Given the description of an element on the screen output the (x, y) to click on. 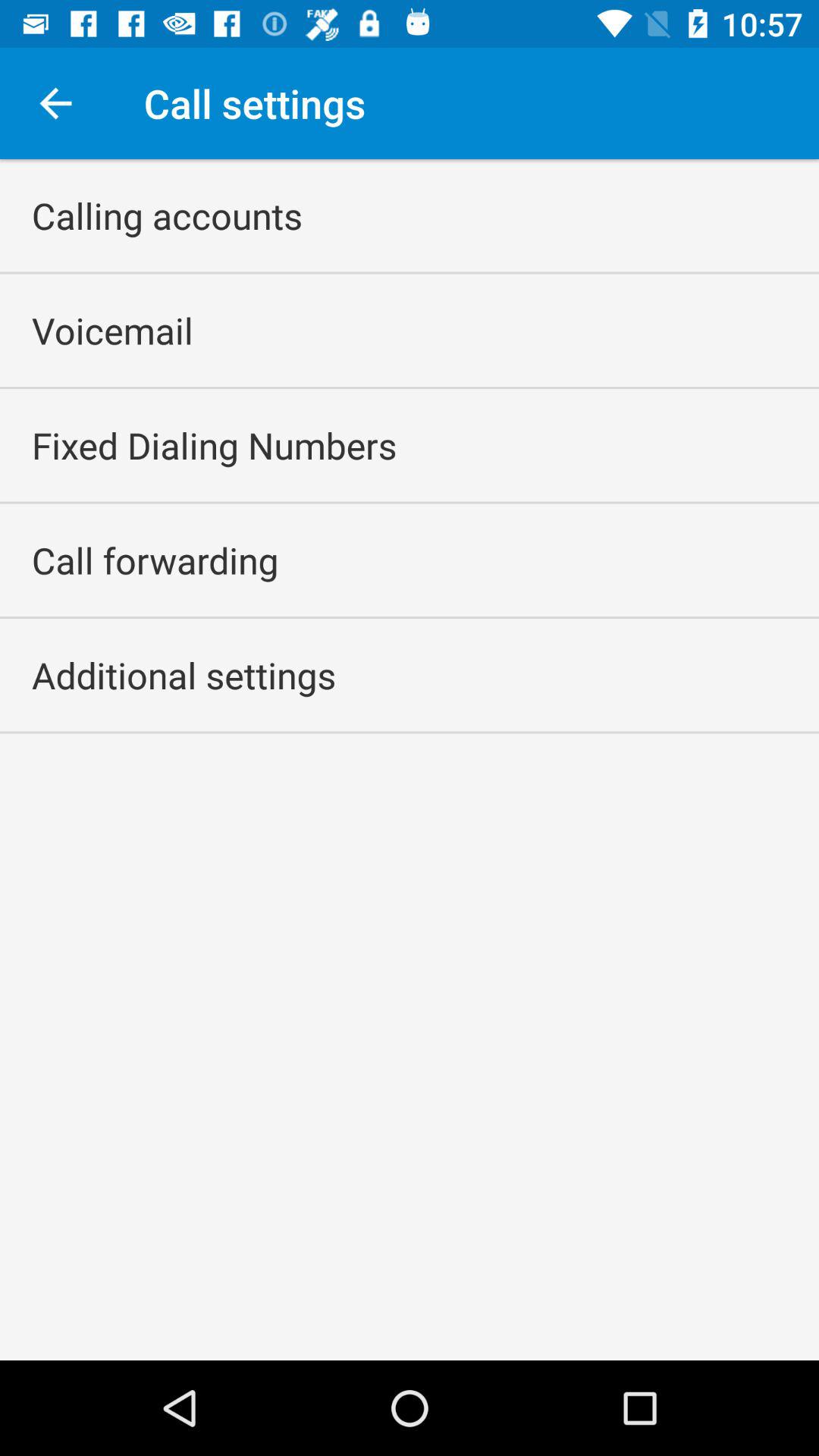
open the additional settings icon (183, 674)
